Given the description of an element on the screen output the (x, y) to click on. 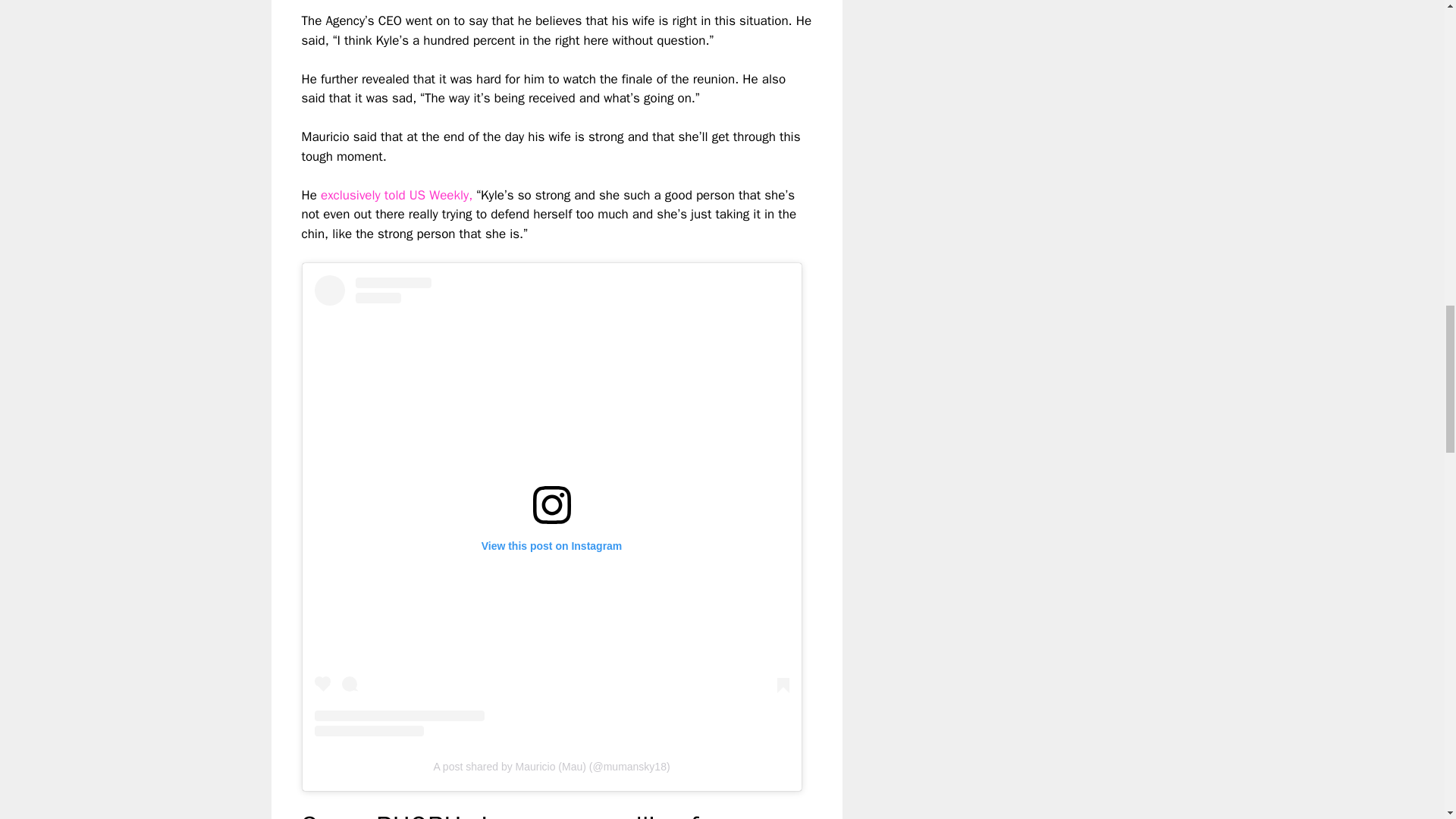
exclusively told US Weekly, (395, 195)
